Given the description of an element on the screen output the (x, y) to click on. 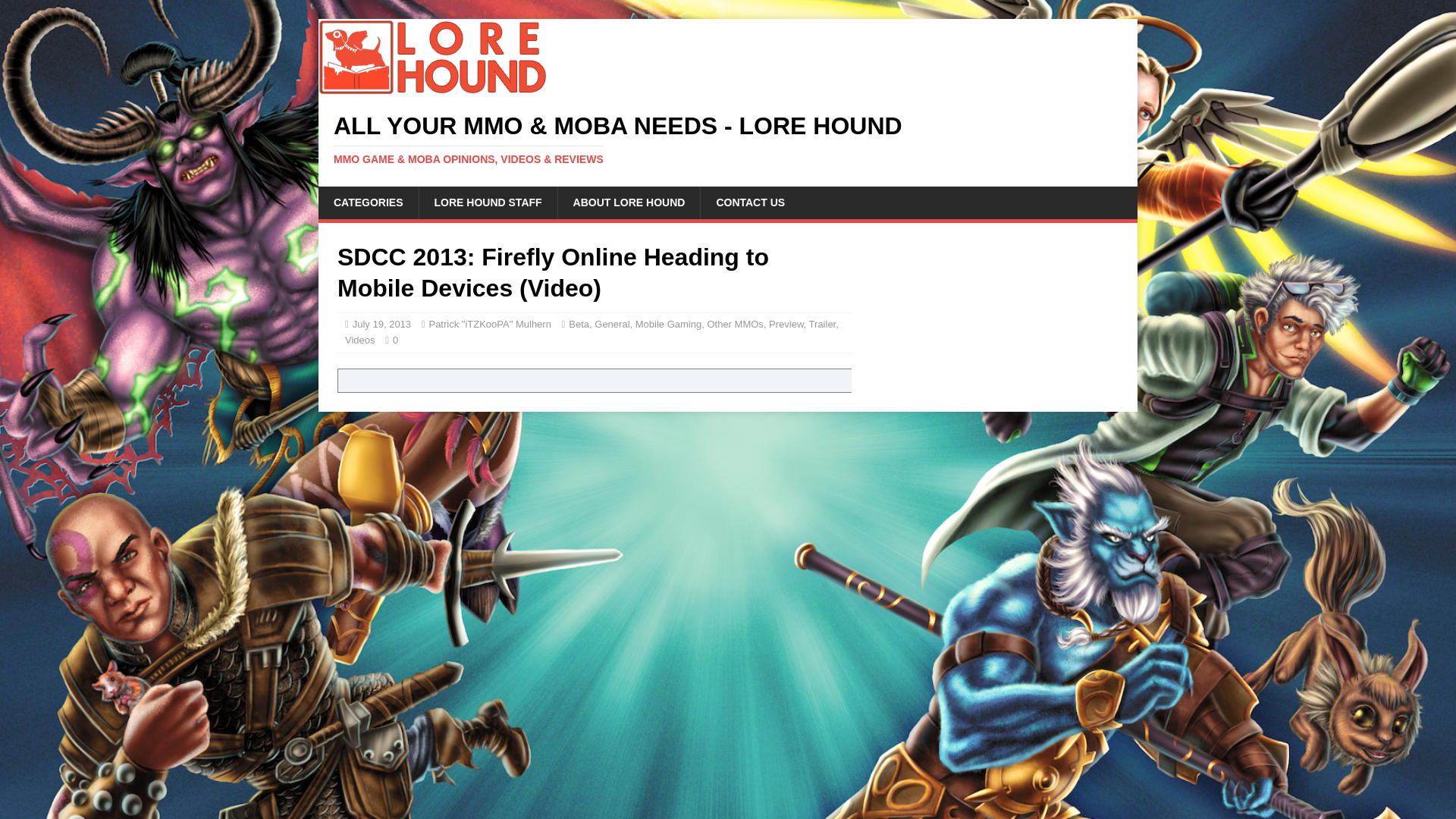
July 19, 2013 (381, 324)
Patrick "iTZKooPA" Mulhern (489, 324)
CONTACT US (749, 202)
Mobile Gaming (667, 324)
Videos (360, 339)
General (611, 324)
Preview (785, 324)
Other MMOs (734, 324)
ABOUT LORE HOUND (628, 202)
CATEGORIES (368, 202)
Beta (579, 324)
LORE HOUND STAFF (488, 202)
Trailer (822, 324)
